Given the description of an element on the screen output the (x, y) to click on. 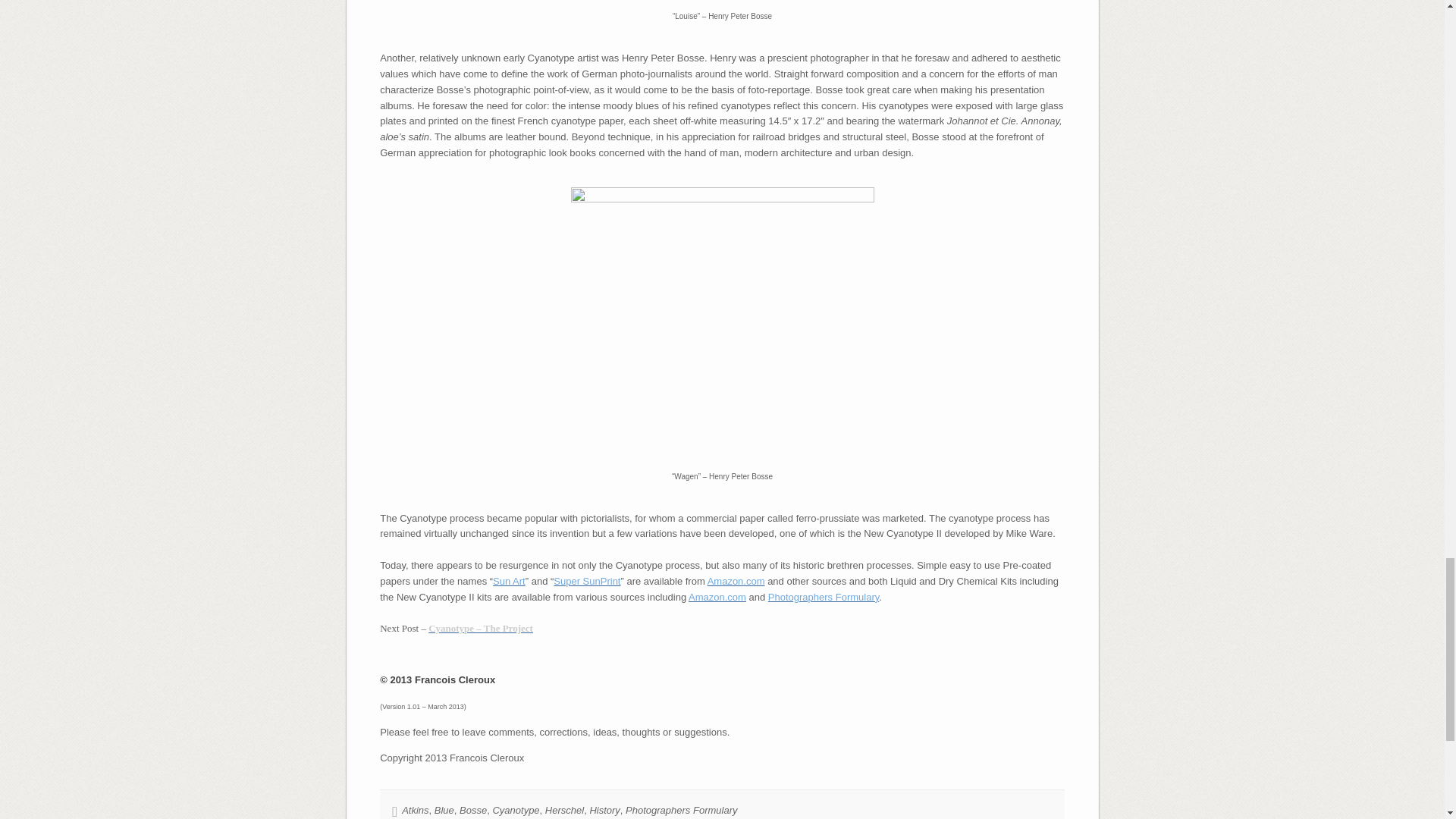
Photographers Formulary (823, 596)
Blue (443, 809)
History (604, 809)
Herschel (563, 809)
Bosse (473, 809)
Sun Art (509, 581)
Photographers Formulary (681, 809)
Atkins (414, 809)
Super SunPrint (586, 581)
Amazon.com (716, 596)
